Given the description of an element on the screen output the (x, y) to click on. 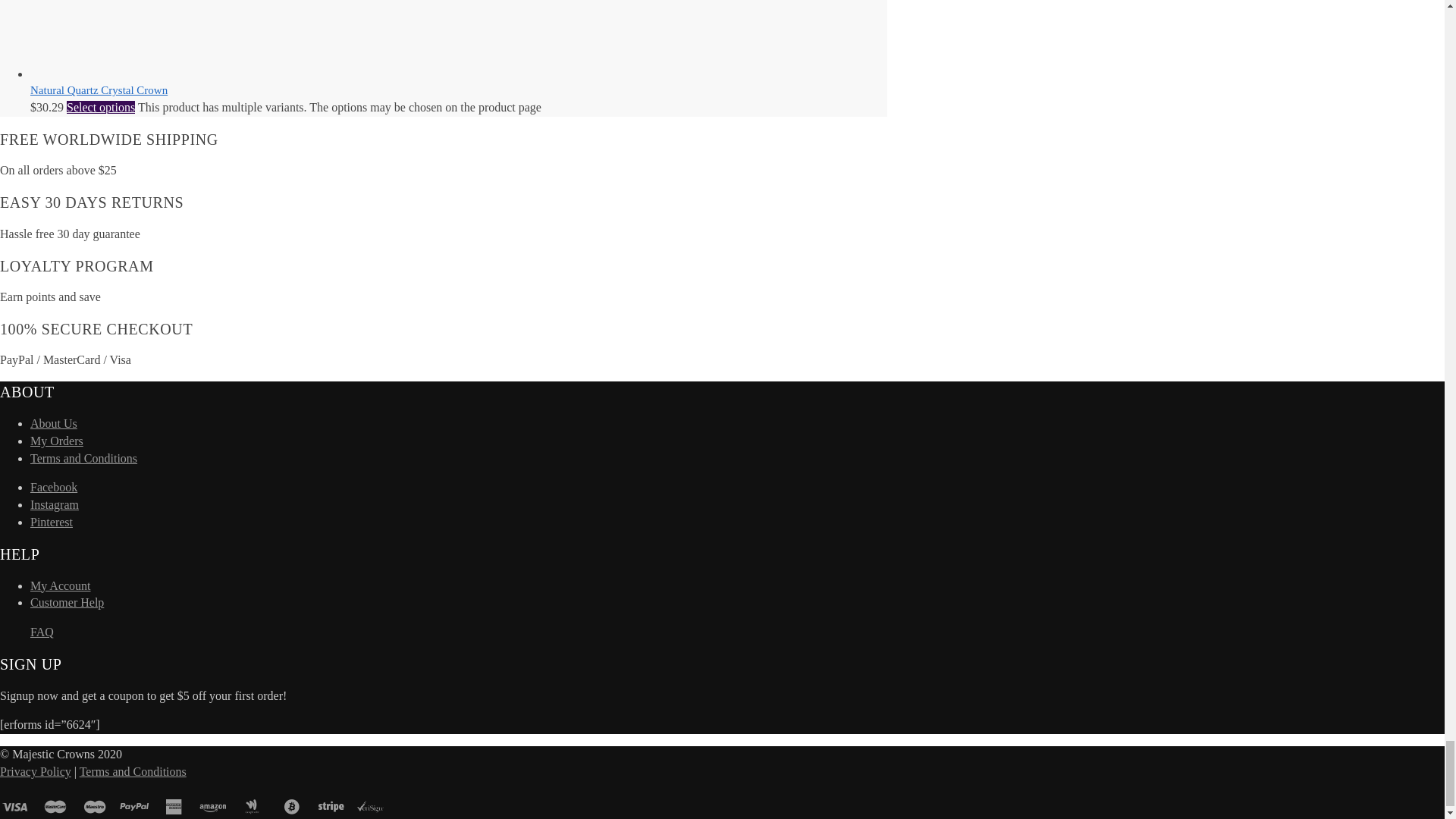
Natural Quartz Crystal Crown (143, 73)
